Given the description of an element on the screen output the (x, y) to click on. 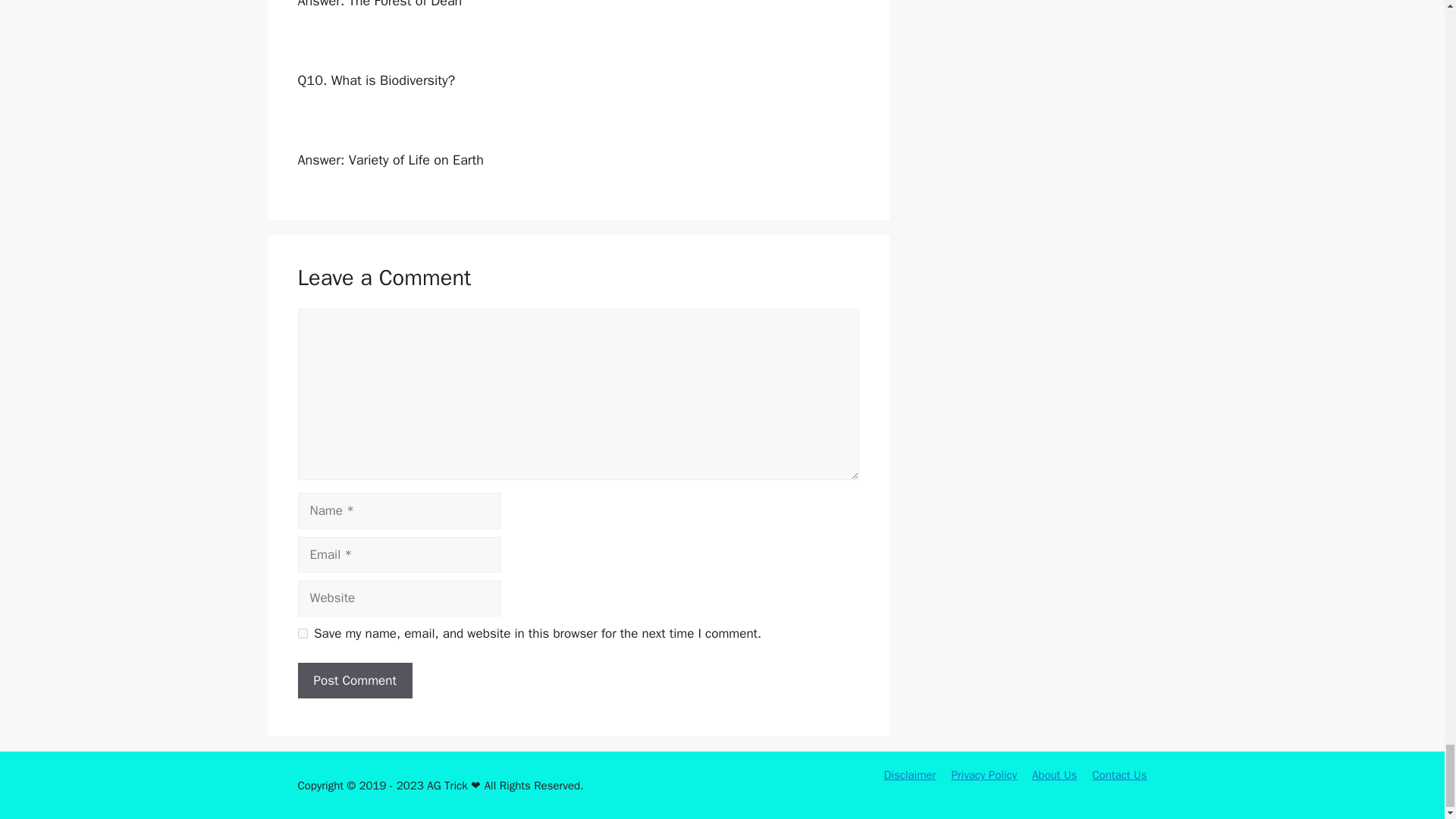
Privacy Policy (983, 775)
Post Comment (354, 680)
Disclaimer (909, 775)
Post Comment (354, 680)
yes (302, 633)
About Us (1054, 775)
Contact Us (1119, 775)
